Given the description of an element on the screen output the (x, y) to click on. 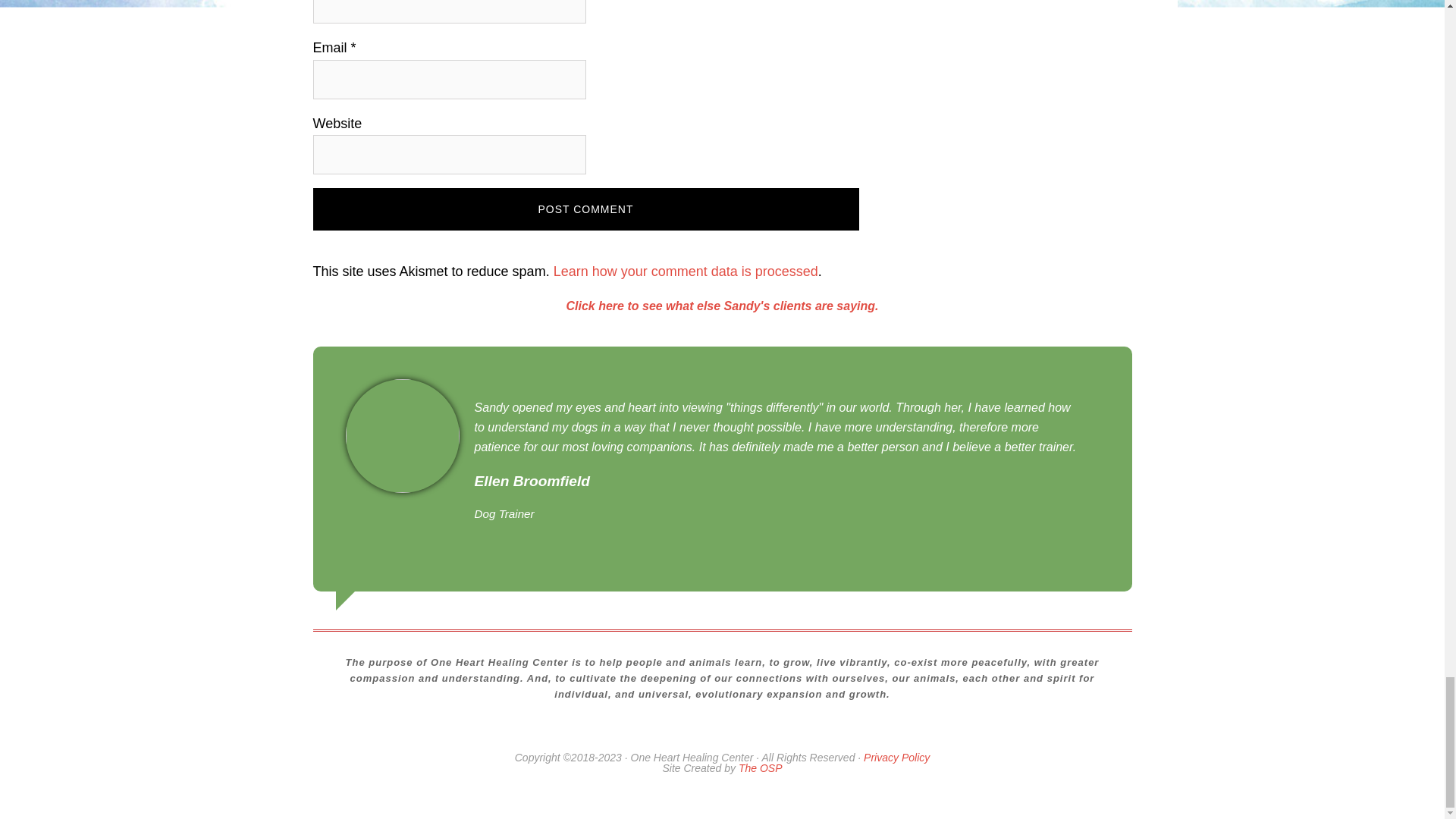
Post Comment (586, 209)
